Given the description of an element on the screen output the (x, y) to click on. 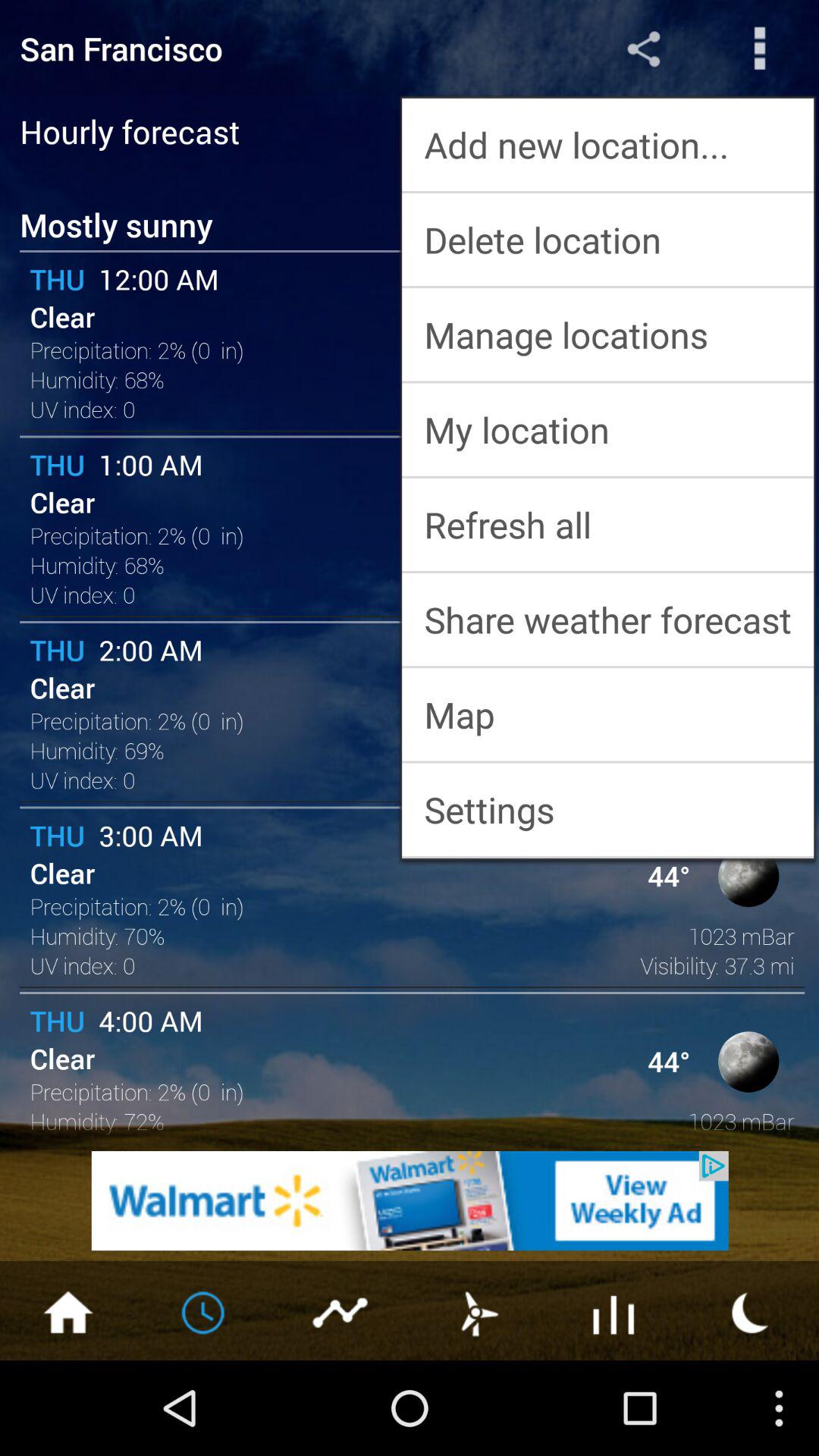
jump until the add new location... icon (607, 144)
